Given the description of an element on the screen output the (x, y) to click on. 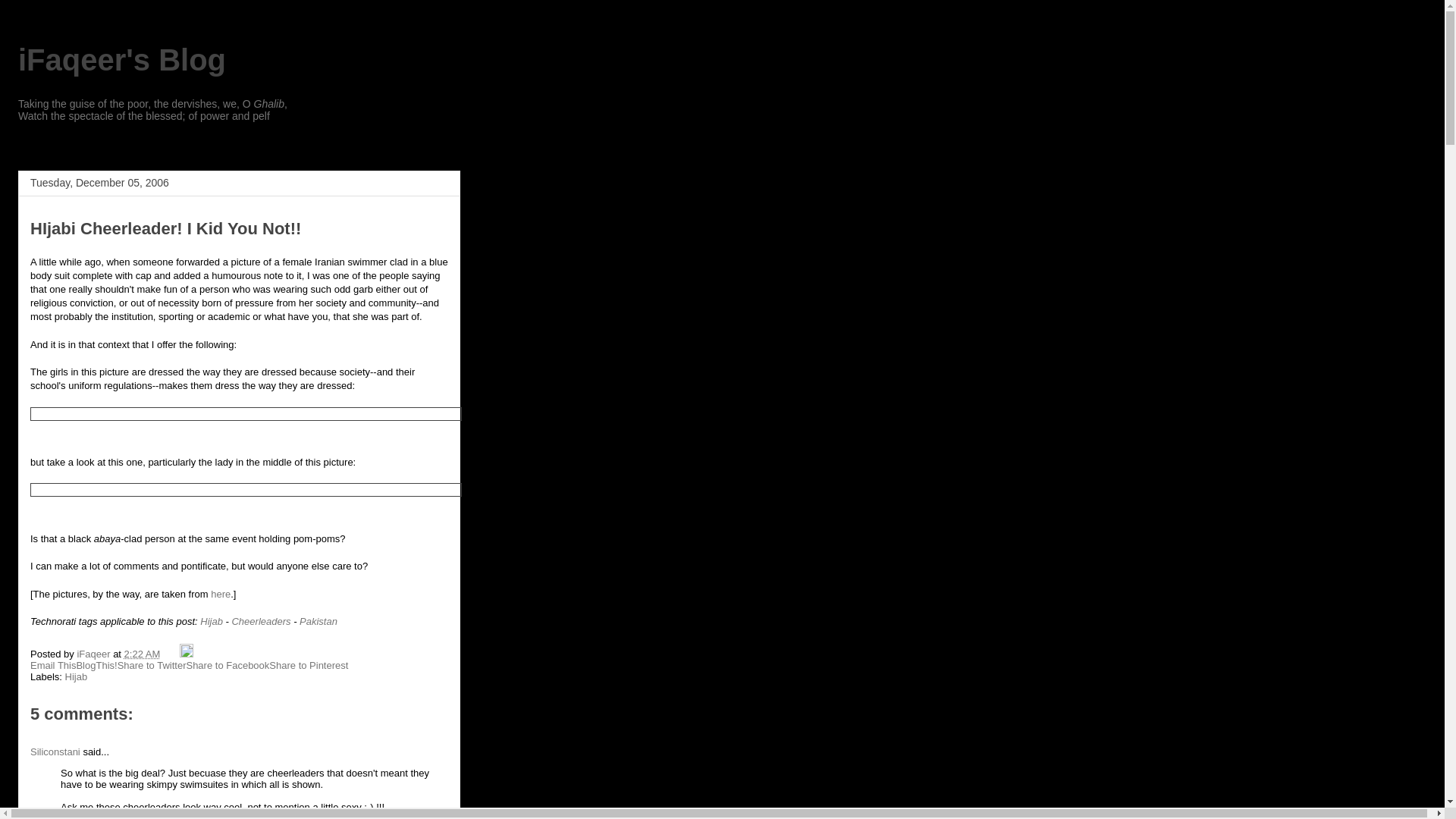
permanent link (141, 654)
Share to Twitter (151, 665)
author profile (95, 654)
Hijab (211, 621)
BlogThis! (95, 665)
Share to Facebook (227, 665)
Email This (52, 665)
BlogThis! (95, 665)
Edit Post (186, 654)
Email This (52, 665)
Share to Twitter (151, 665)
Cheerleaders (260, 621)
here (220, 593)
Pakistan (318, 621)
